Given the description of an element on the screen output the (x, y) to click on. 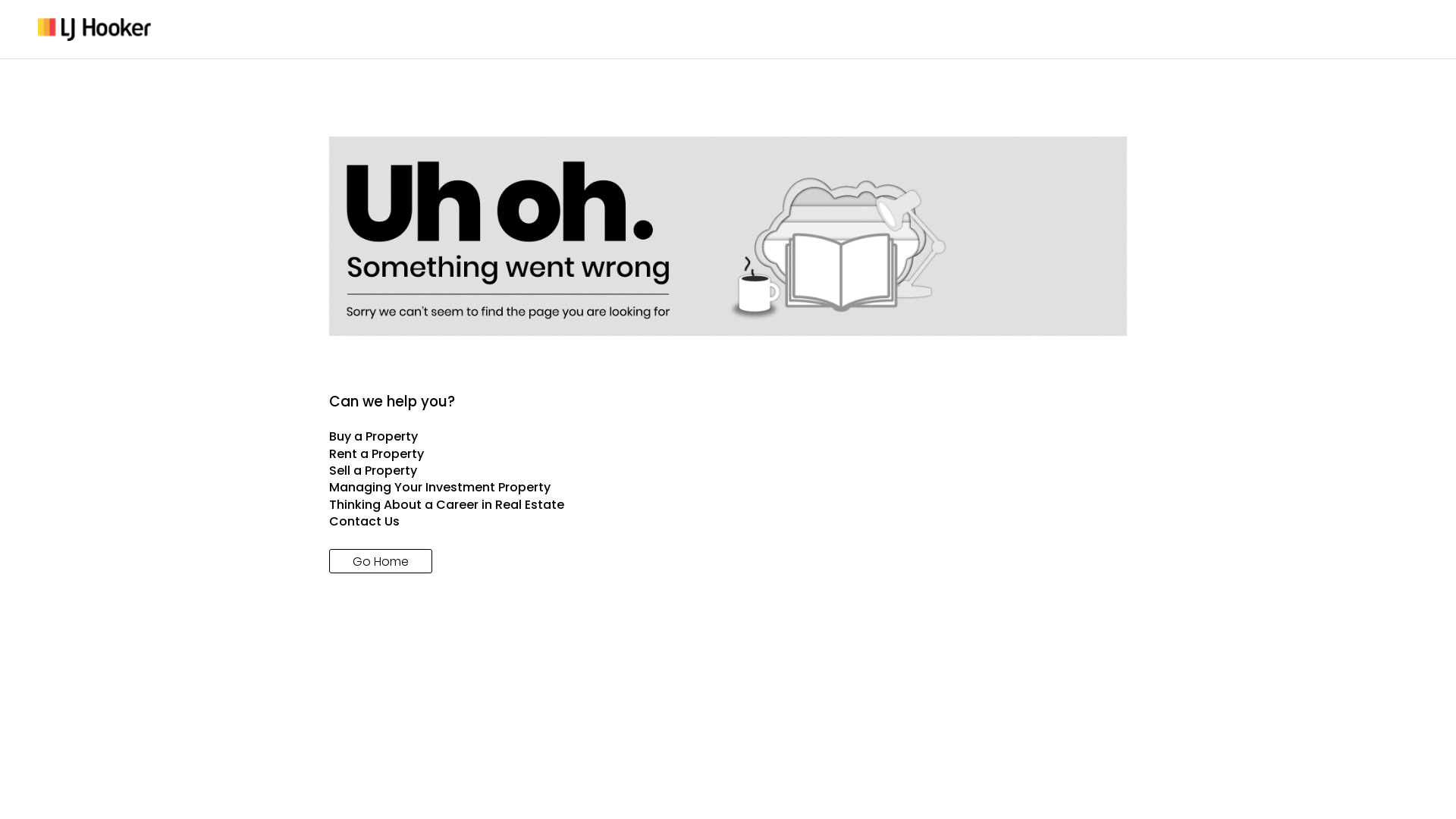
Thinking About a Career in Real Estate Element type: text (727, 504)
Rent a Property Element type: text (727, 453)
Buy a Property Element type: text (727, 436)
Go Home Element type: text (380, 561)
Sell a Property Element type: text (727, 470)
Managing Your Investment Property Element type: text (727, 487)
Contact Us Element type: text (727, 521)
